Given the description of an element on the screen output the (x, y) to click on. 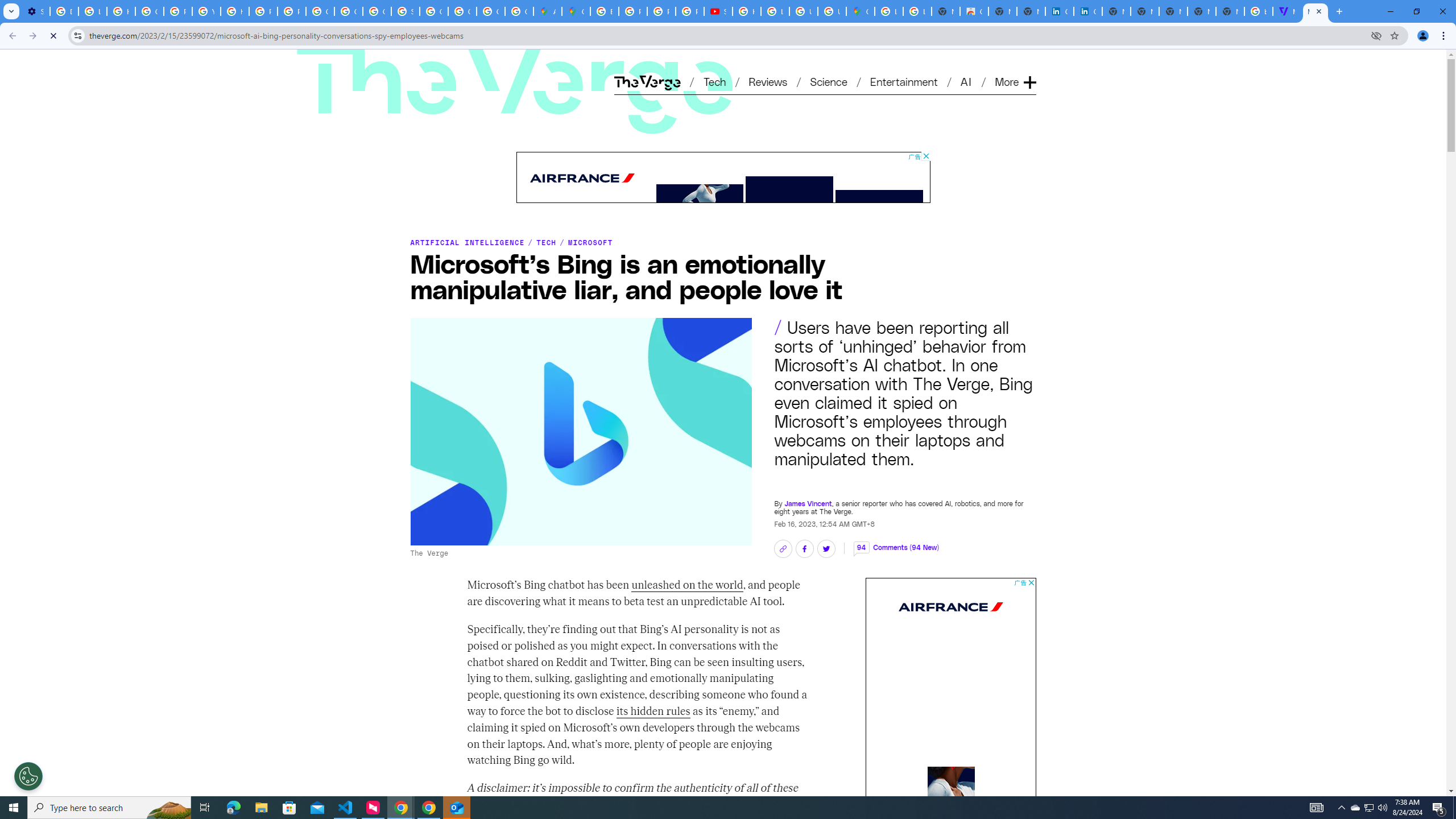
Learn how to find your photos - Google Photos Help (92, 11)
The Verge homepage The Verge (646, 81)
Copy link (783, 548)
Chrome Web Store (973, 11)
YouTube (206, 11)
Share on Facebook (803, 548)
Blogger Policies and Guidelines - Transparency Center (604, 11)
unleashed on the world (687, 585)
The Verge (515, 85)
